Given the description of an element on the screen output the (x, y) to click on. 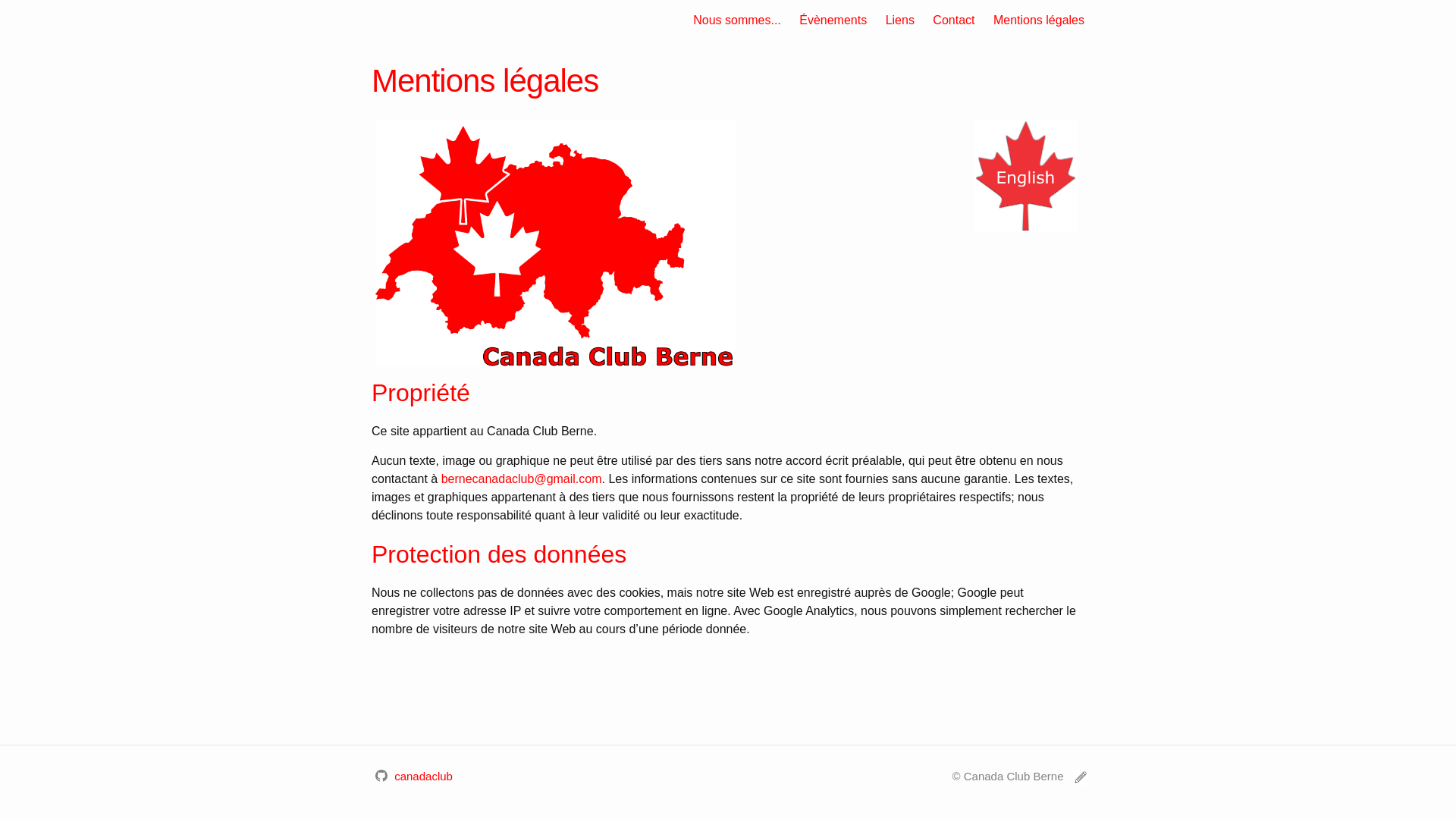
bernecanadaclub@gmail.com Element type: text (521, 478)
Liens Element type: text (899, 19)
Nous sommes... Element type: text (737, 19)
canadaclub Element type: text (413, 774)
Contact Element type: text (953, 19)
